Given the description of an element on the screen output the (x, y) to click on. 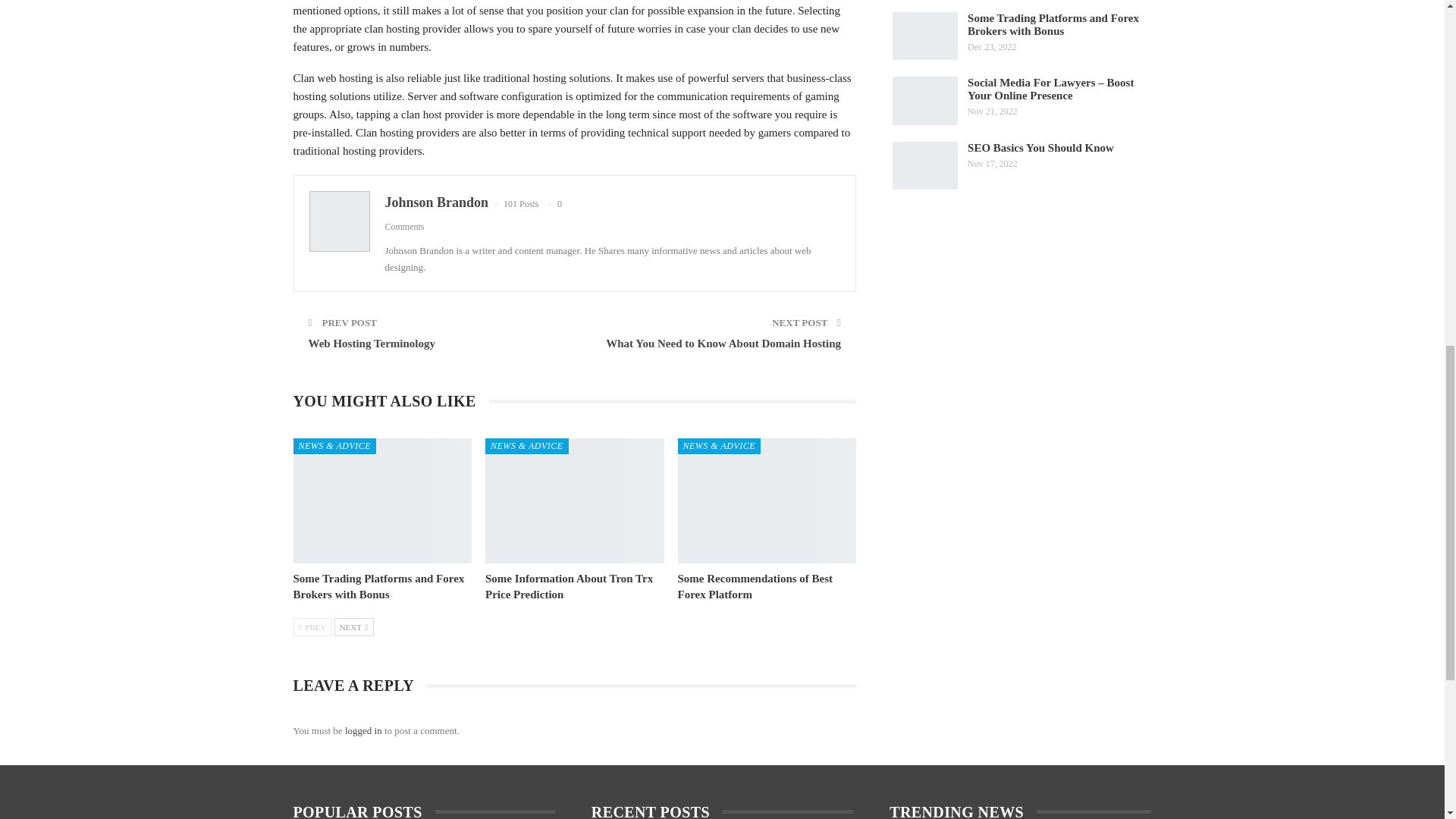
Some Recommendations of Best Forex Platform (755, 586)
Some Information About Tron Trx Price Prediction (573, 500)
Johnson Brandon (437, 201)
Web Hosting Terminology (371, 343)
Some Trading Platforms and Forex Brokers with Bonus (381, 500)
What You Need to Know About Domain Hosting (723, 343)
Some Trading Platforms and Forex Brokers with Bonus (378, 586)
Next (354, 627)
Some Information About Tron Trx Price Prediction (568, 586)
YOU MIGHT ALSO LIKE (389, 401)
PREV (311, 627)
Some Recommendations of Best Forex Platform (767, 500)
Some Information About Tron Trx Price Prediction (568, 586)
Some Trading Platforms and Forex Brokers with Bonus (378, 586)
Previous (311, 627)
